Given the description of an element on the screen output the (x, y) to click on. 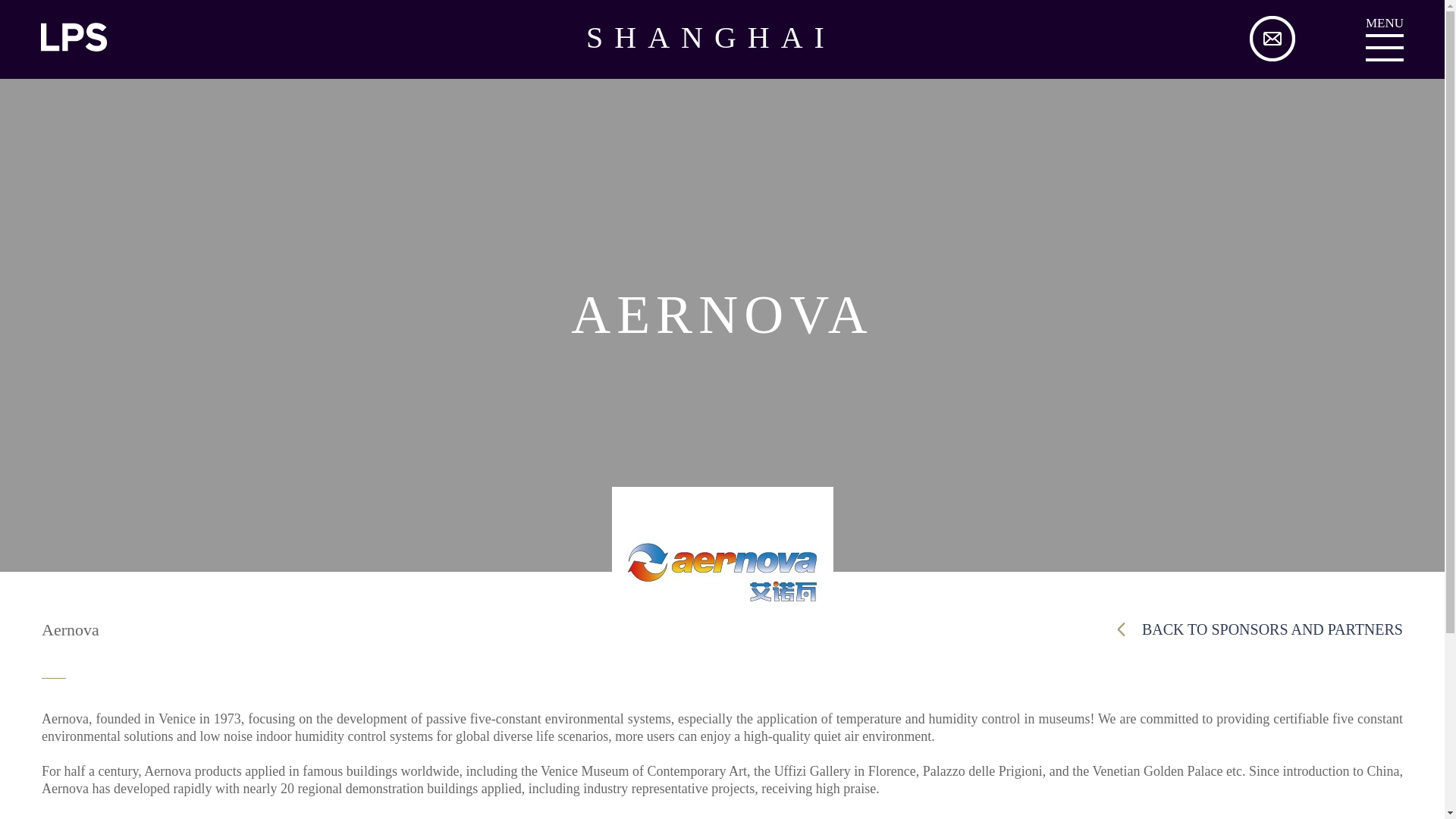
SHANGHAI (722, 37)
MENU (1384, 47)
BACK TO SPONSORS AND PARTNERS (1259, 629)
